Given the description of an element on the screen output the (x, y) to click on. 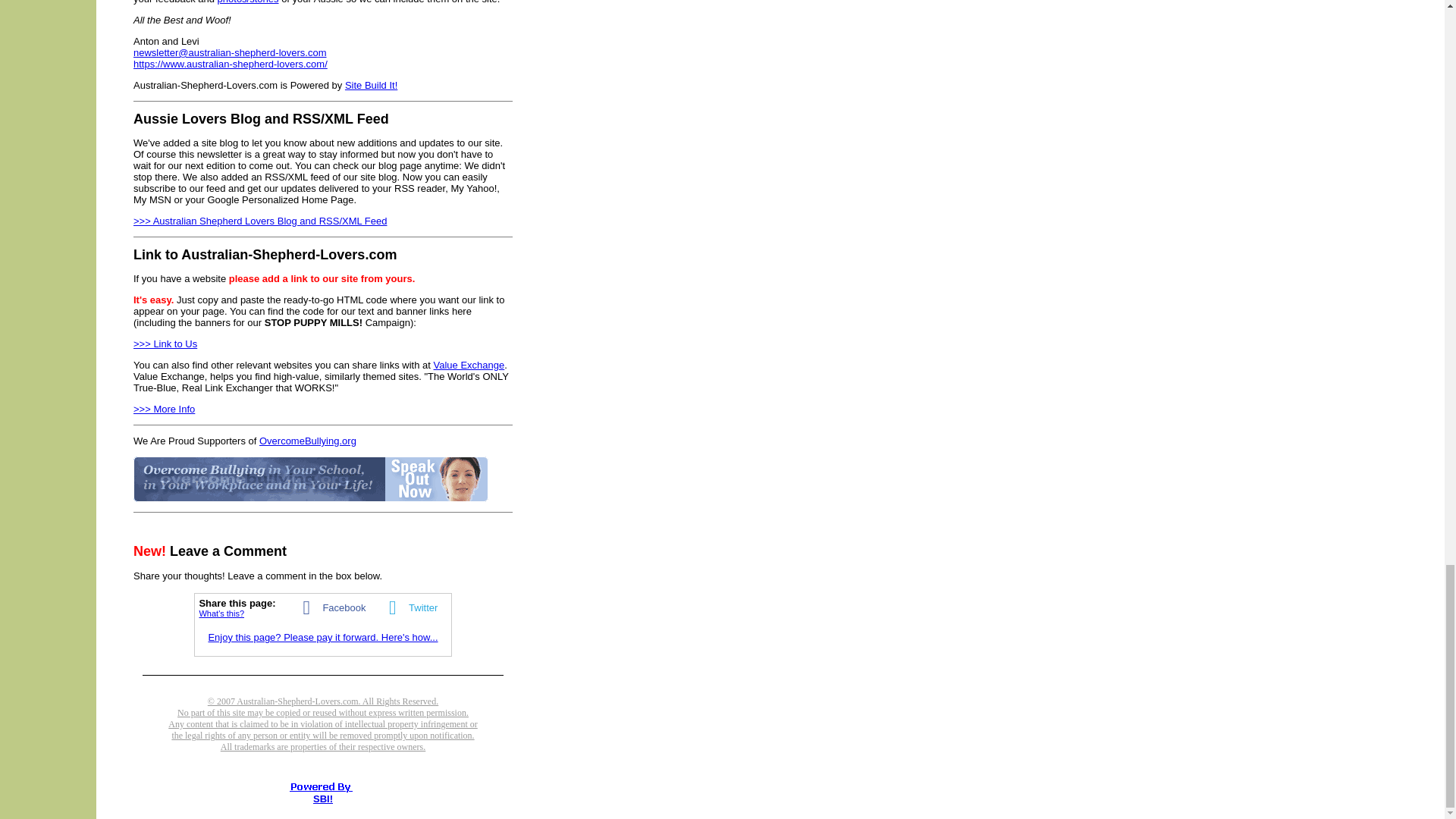
Facebook (330, 606)
Twitter (409, 606)
Enjoy this page? Please pay it forward. Here's how... (323, 636)
What's this? (221, 613)
Site Build It! (371, 84)
OvercomeBullying.org (307, 440)
Legal Stuff (322, 730)
SBI! (323, 798)
Value Exchange (469, 365)
